Given the description of an element on the screen output the (x, y) to click on. 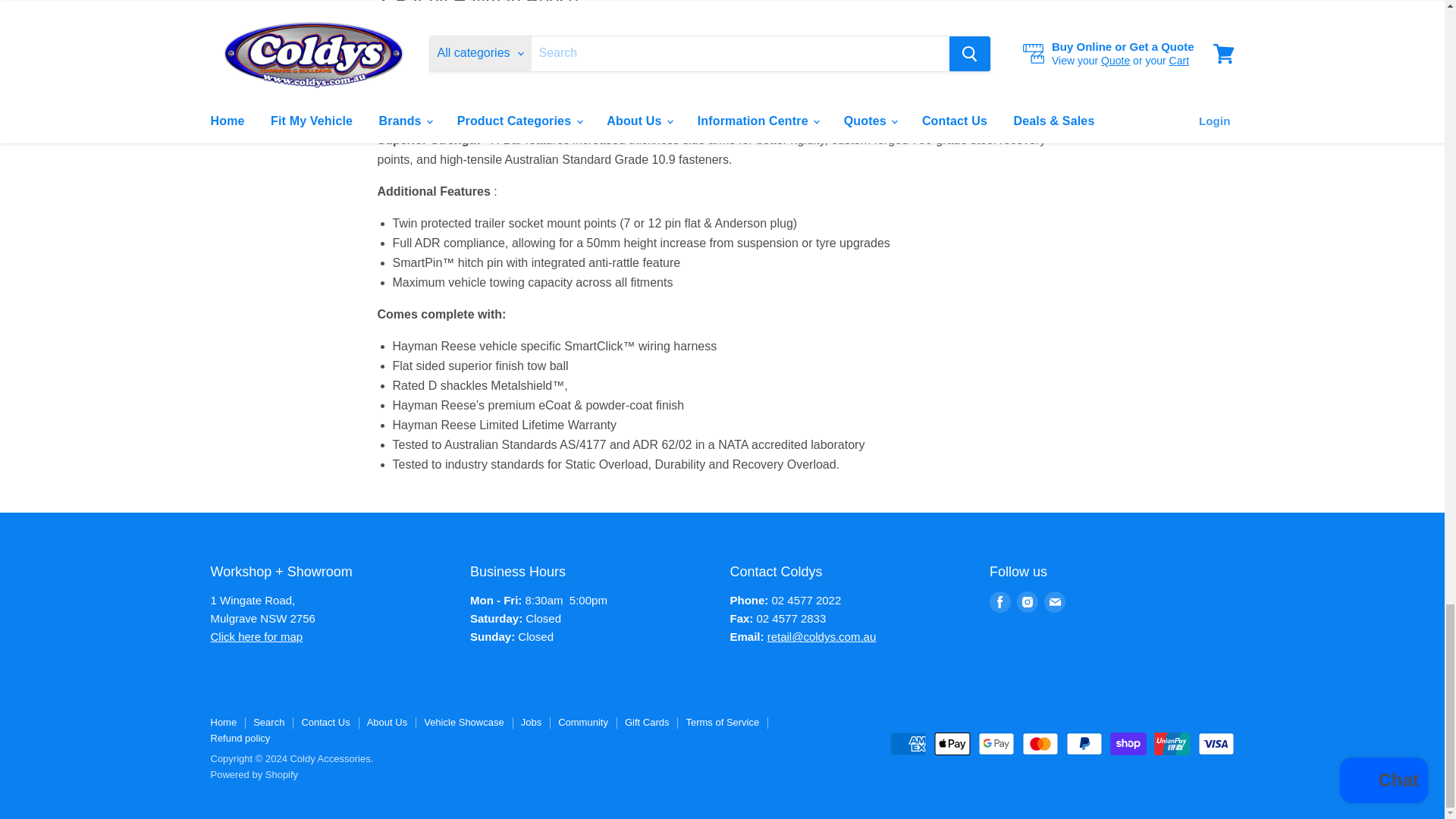
Mastercard (1040, 743)
Google Maps (256, 635)
Instagram (1027, 601)
American Express (907, 743)
Shop Pay (1128, 743)
Facebook (1000, 601)
Google Pay (996, 743)
PayPal (1083, 743)
Email (1054, 601)
click here to email us (821, 635)
Union Pay (1172, 743)
Visa (1216, 743)
Apple Pay (952, 743)
